Given the description of an element on the screen output the (x, y) to click on. 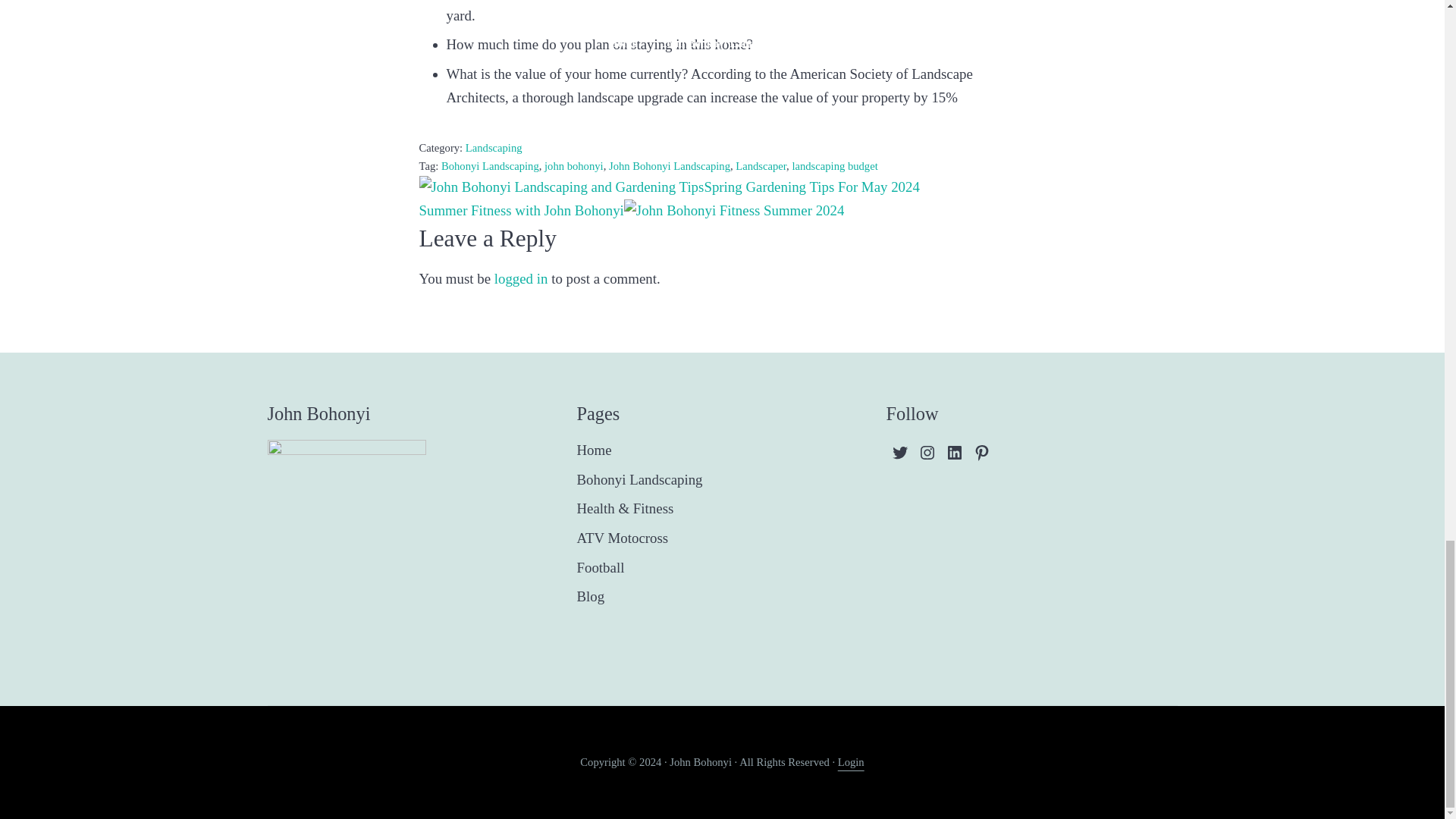
Bohonyi Landscaping (638, 480)
Home (593, 450)
Instagram (926, 452)
LinkedIn (954, 452)
ATV Motocross (622, 538)
Twitter (898, 452)
Landscaping (493, 147)
Blog (590, 597)
